Given the description of an element on the screen output the (x, y) to click on. 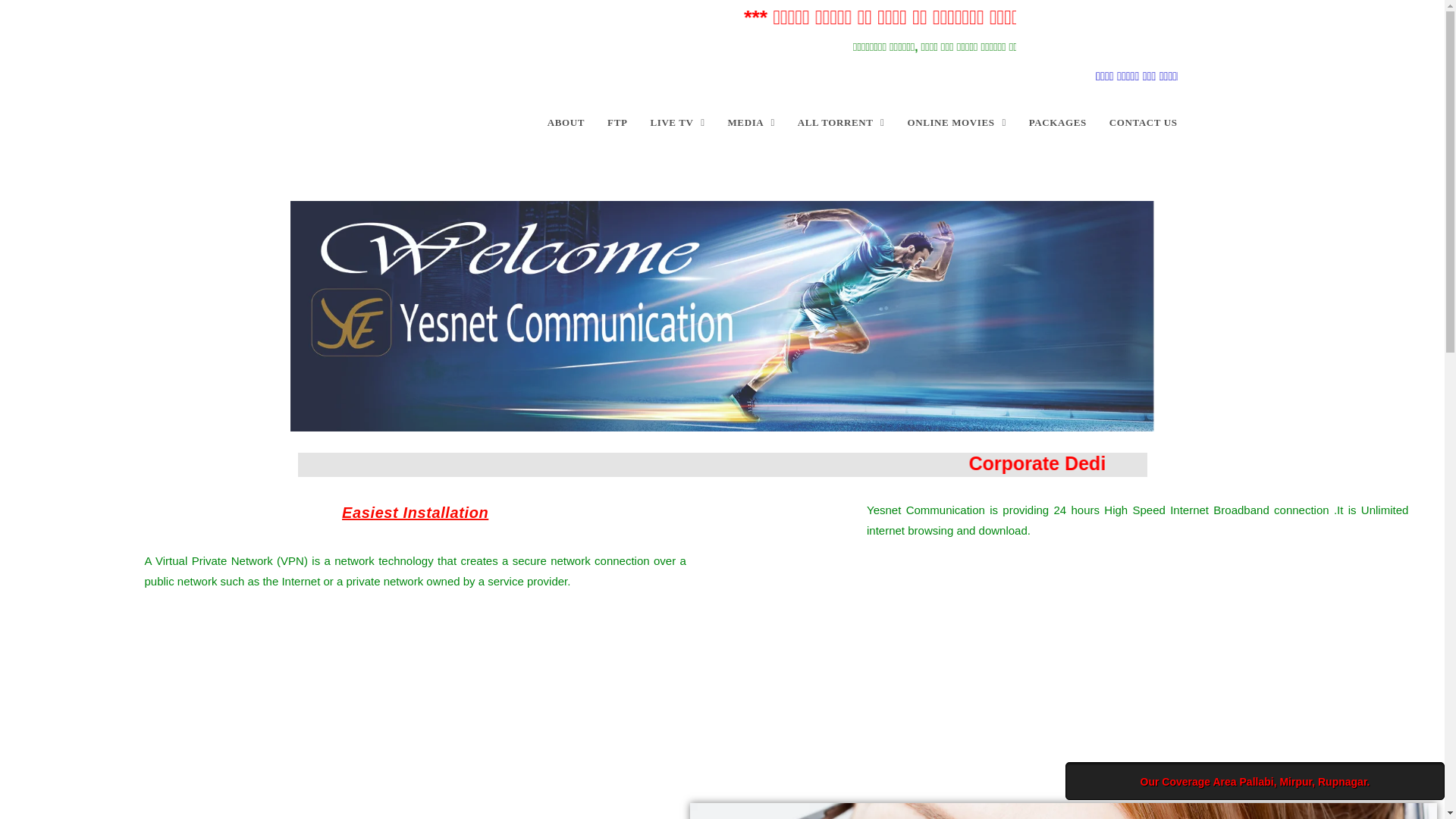
ABOUT (565, 122)
Our Coverage Area Pallabi, Mirpur, Rupnagar. (1295, 781)
HOME (507, 122)
CONTACT US (1143, 122)
MEDIA (751, 122)
PACKAGES (1057, 122)
ONLINE MOVIES (955, 122)
LIVE TV (677, 122)
ALL TORRENT (841, 122)
